Given the description of an element on the screen output the (x, y) to click on. 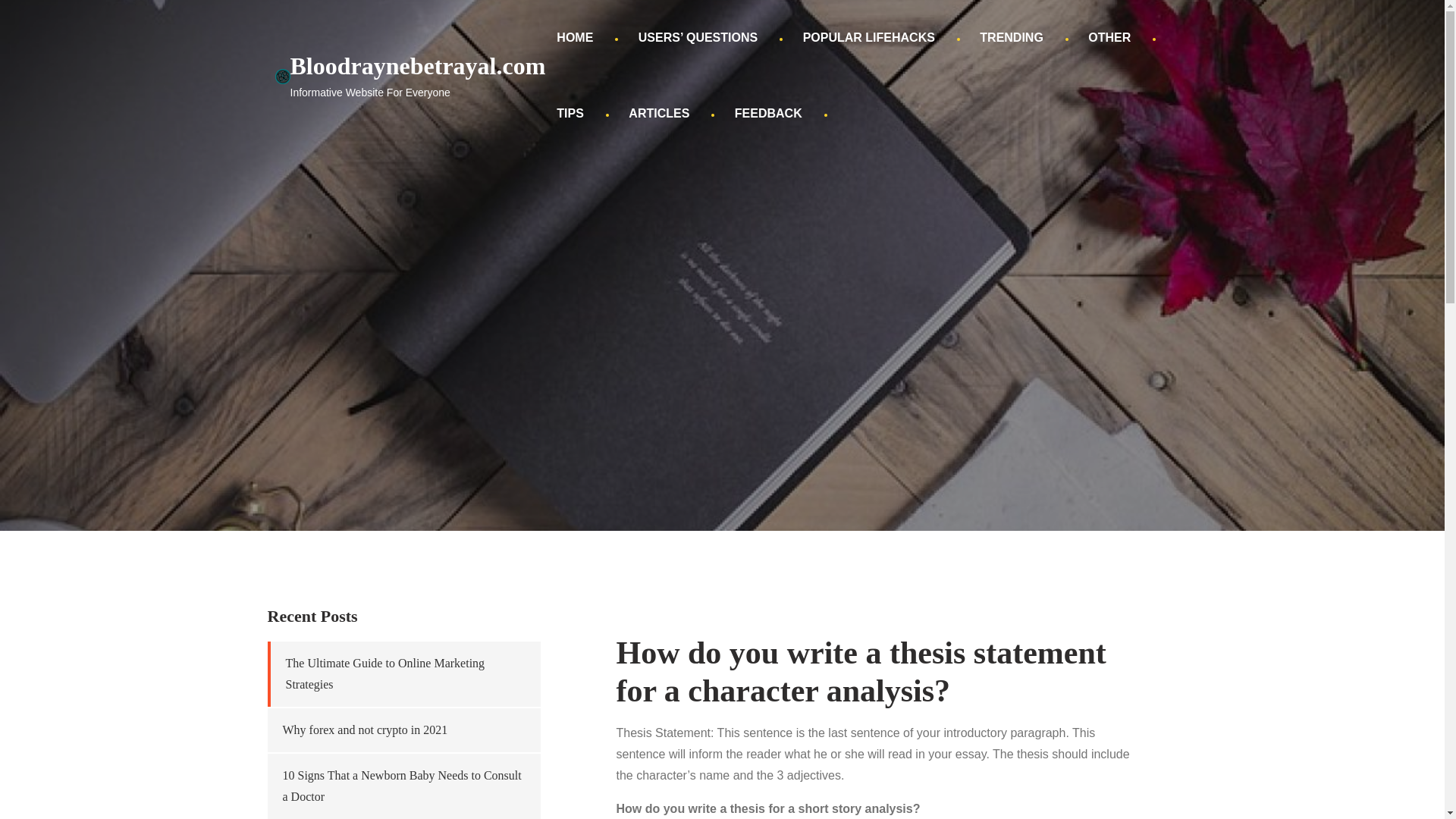
10 Signs That a Newborn Baby Needs to Consult a Doctor (401, 786)
ARTICLES (658, 113)
POPULAR LIFEHACKS (869, 38)
The Ultimate Guide to Online Marketing Strategies (384, 673)
FEEDBACK (768, 113)
Bloodraynebetrayal.com (416, 65)
TRENDING (1011, 38)
Why forex and not crypto in 2021 (364, 729)
